Given the description of an element on the screen output the (x, y) to click on. 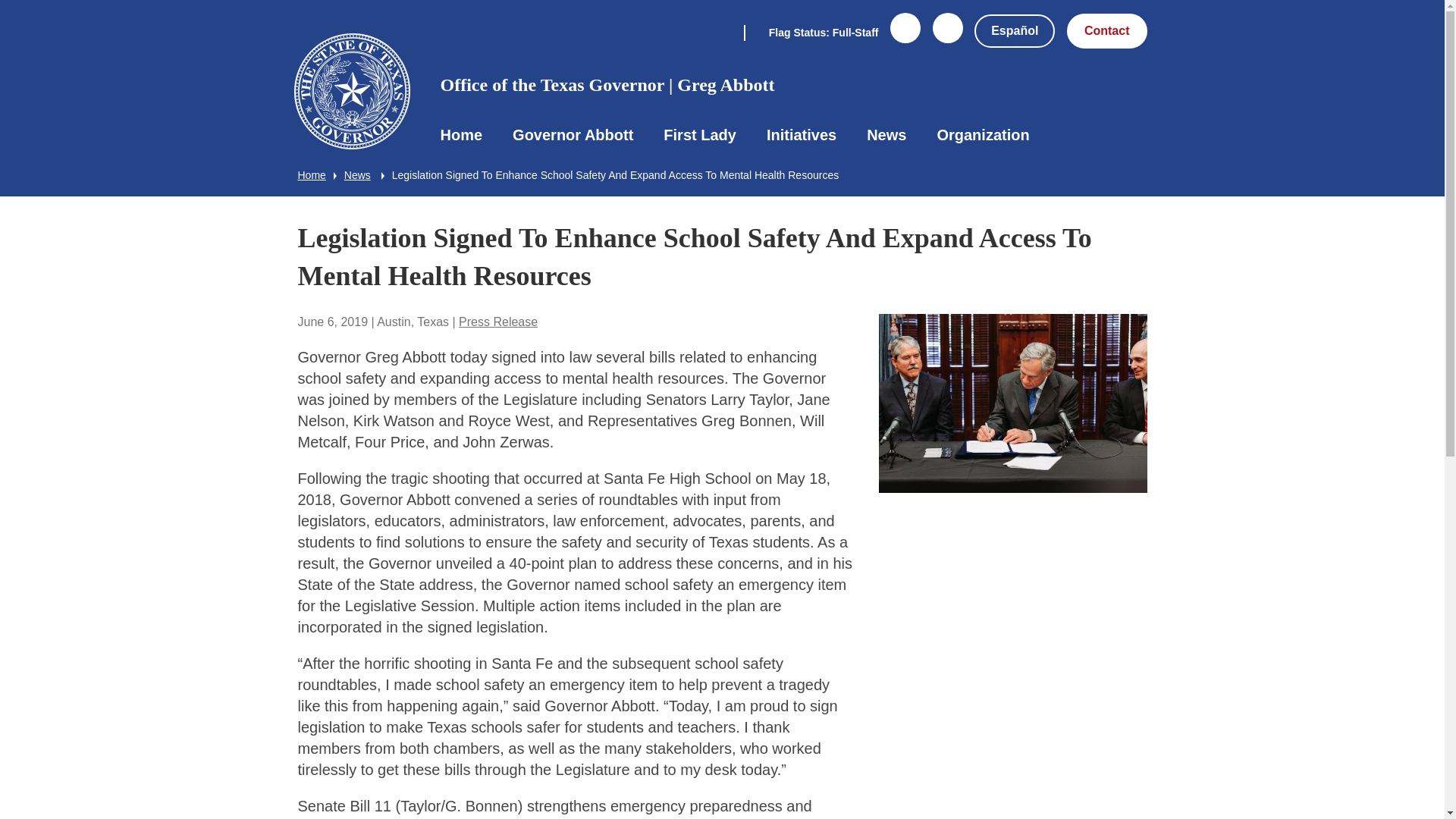
Facebook (904, 37)
Flag Status Full-Staff (811, 31)
Governor Abbott (572, 135)
Twitter (947, 37)
Contact (1107, 30)
First Lady (699, 135)
Home (461, 135)
Initiatives (801, 135)
